Given the description of an element on the screen output the (x, y) to click on. 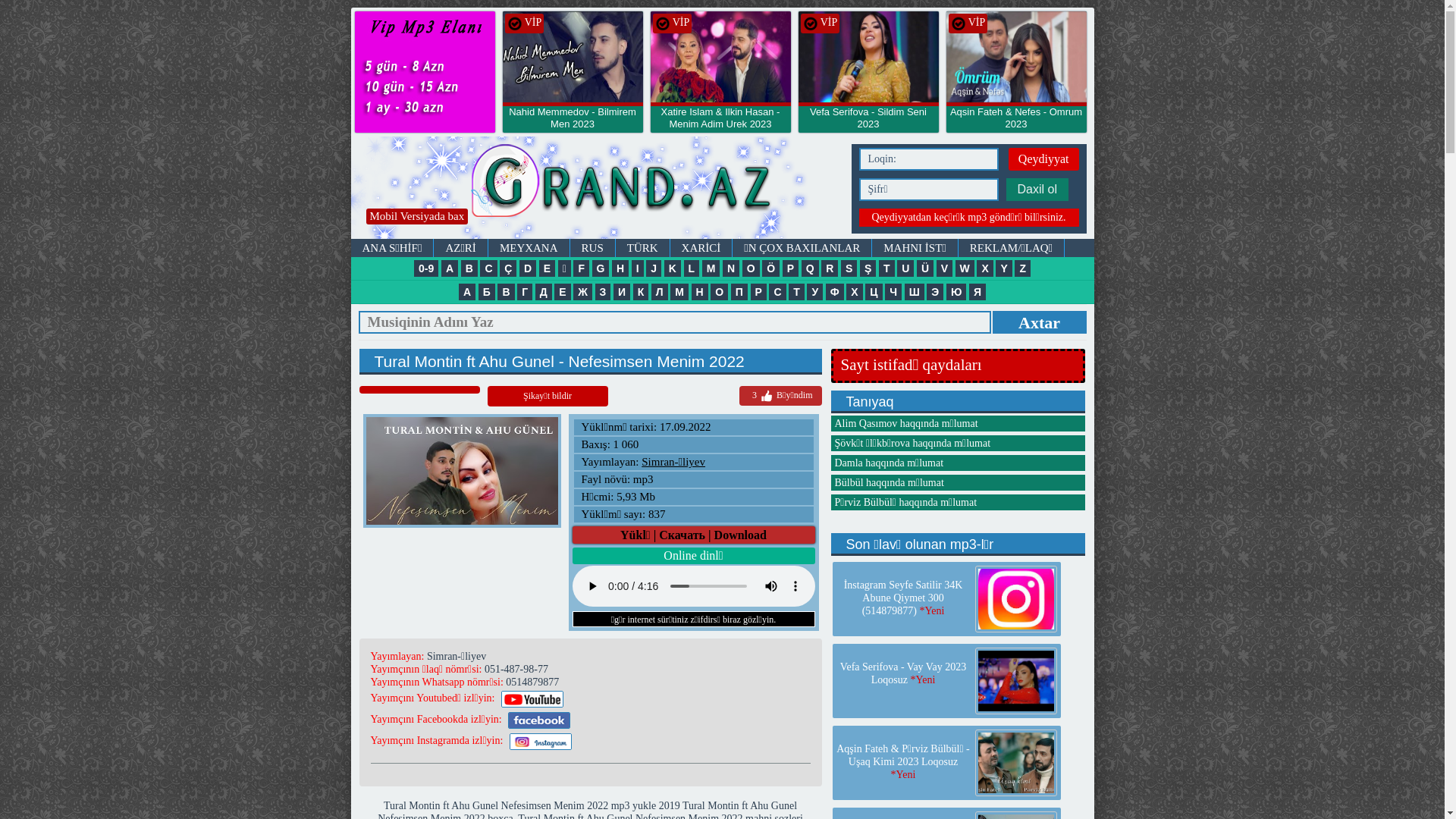
L Element type: text (691, 268)
Grand.az Element type: hover (809, 23)
Vefa Serifova - Sildim Seni 2023
*Yeni Element type: text (867, 124)
D Element type: text (527, 268)
Nahid Memmedov - Bilmirem Men 2023
*Yeni Element type: text (572, 124)
J Element type: text (653, 268)
Mobil Versiyada bax Element type: text (417, 216)
T Element type: text (886, 268)
K Element type: text (672, 268)
Grand.az Element type: hover (958, 23)
N Element type: text (730, 268)
Daxil ol Element type: text (1036, 189)
B Element type: text (469, 268)
F Element type: text (581, 268)
I Element type: text (637, 268)
Grand.az Element type: hover (1016, 58)
Y Element type: text (1003, 268)
Qeydiyyat Element type: text (1043, 158)
Z Element type: text (1022, 268)
0-9 Element type: text (426, 268)
M Element type: text (711, 268)
Grand.az Element type: hover (513, 23)
Grand.az Element type: hover (867, 58)
RUS Element type: text (592, 247)
V Element type: text (944, 268)
Grand.az Element type: hover (572, 58)
Grand.az Element type: hover (662, 23)
P Element type: text (790, 268)
O Element type: text (750, 268)
U Element type: text (905, 268)
Vefa Serifova - Vay Vay 2023 Loqosuz *Yeni Element type: text (903, 673)
A Element type: text (449, 268)
W Element type: text (964, 268)
S Element type: text (848, 268)
C Element type: text (488, 268)
Mp3 Element type: text (596, 187)
E Element type: text (547, 268)
X Element type: text (984, 268)
Aqsin Fateh & Nefes - Omrum 2023
*Yeni Element type: text (1016, 124)
Axtar Element type: text (1038, 321)
Grand.az Element type: hover (720, 58)
MEYXANA Element type: text (529, 247)
G Element type: text (600, 268)
Q Element type: text (810, 268)
Xatire Islam & Ilkin Hasan - Menim Adim Urek 2023
*Yeni Element type: text (720, 124)
R Element type: text (829, 268)
H Element type: text (619, 268)
Grand.az Element type: hover (424, 71)
